Given the description of an element on the screen output the (x, y) to click on. 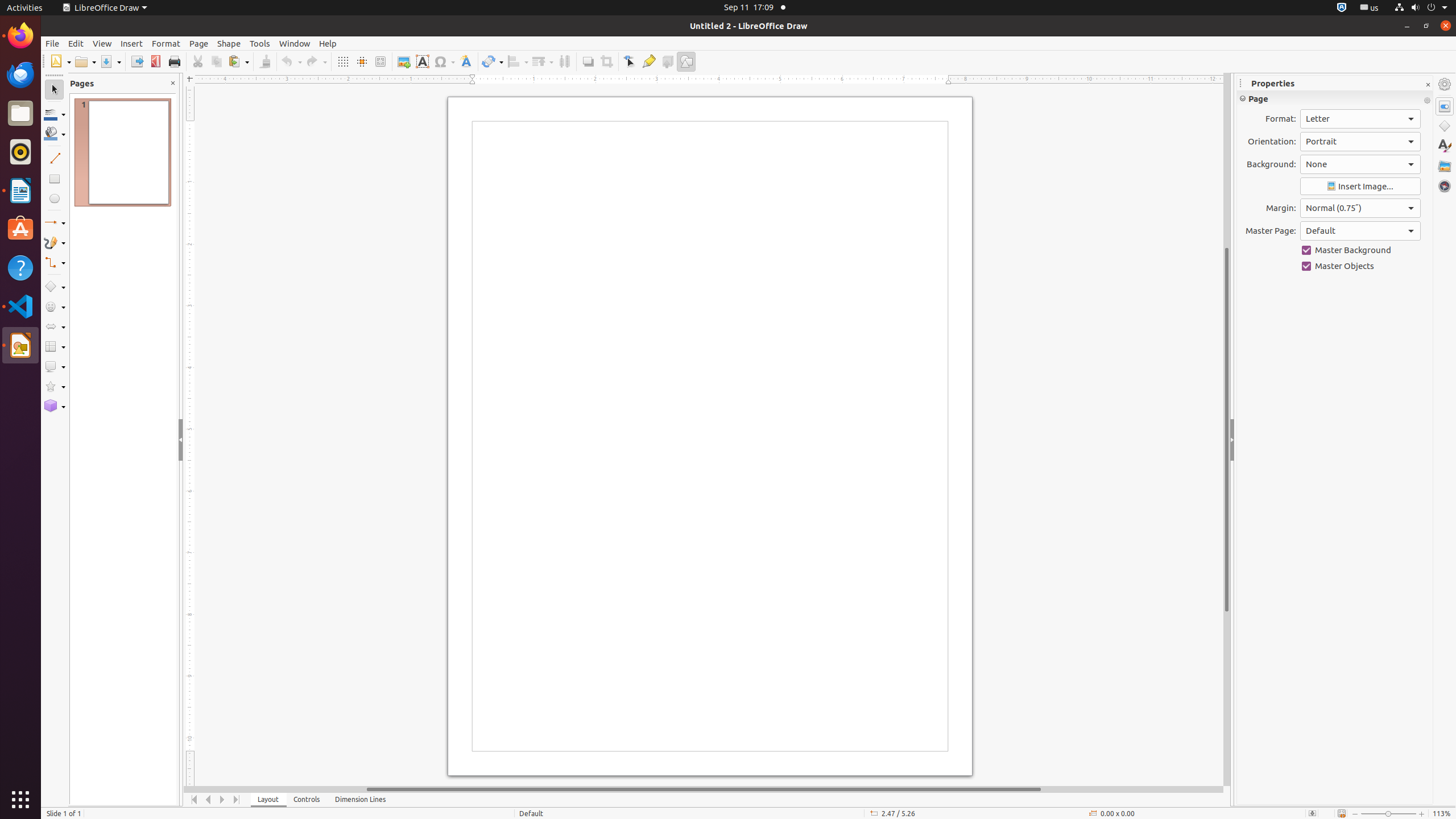
Symbol Shapes Element type: push-button (54, 306)
Visual Studio Code Element type: push-button (20, 306)
Thunderbird Mail Element type: push-button (20, 74)
Move To Home Element type: push-button (194, 799)
Files Element type: push-button (20, 113)
